Given the description of an element on the screen output the (x, y) to click on. 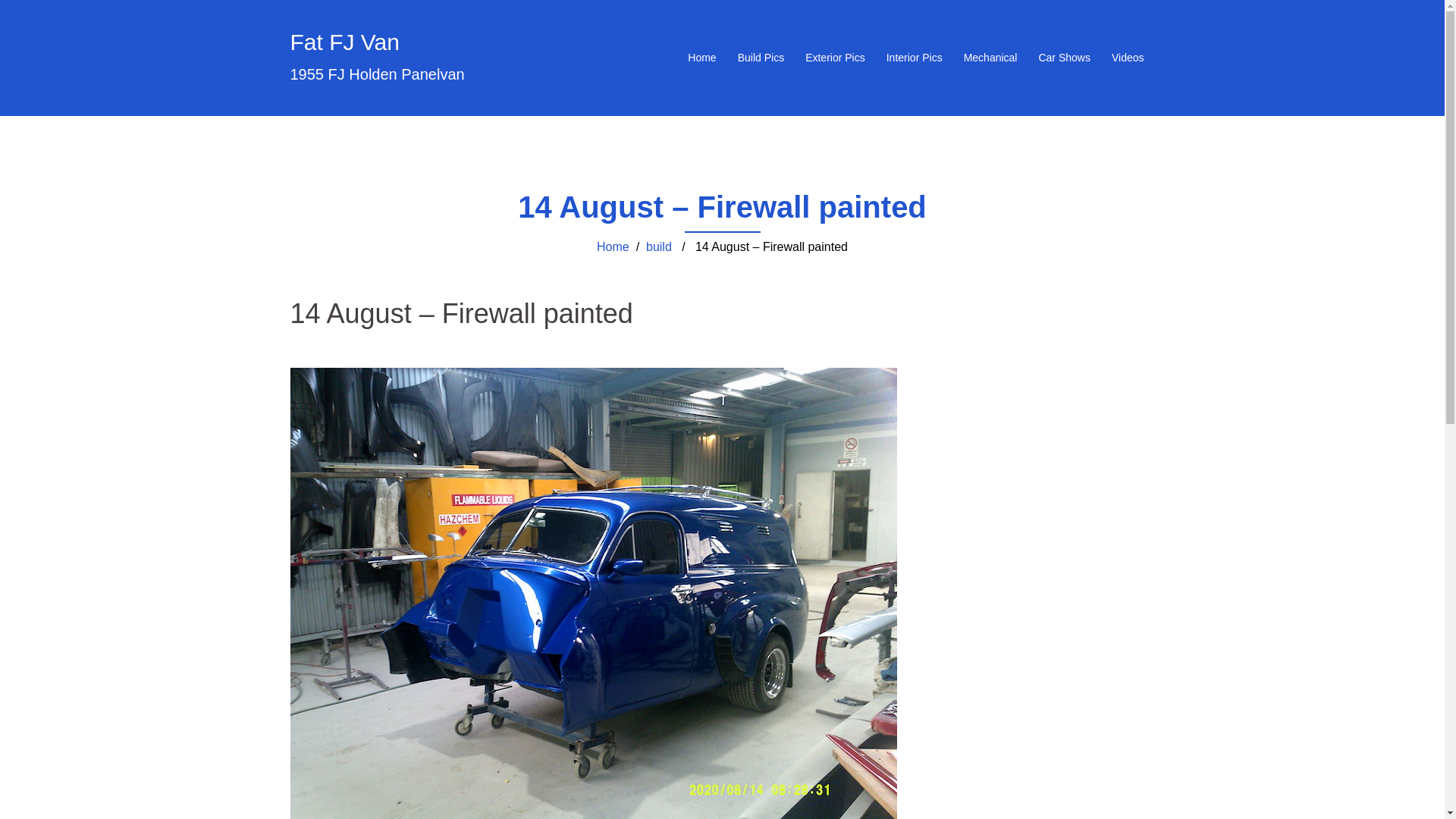
Home Element type: text (612, 246)
Exterior Pics Element type: text (835, 57)
Home Element type: text (701, 57)
Car Shows Element type: text (1063, 57)
Fat FJ Van Element type: text (344, 41)
build Element type: text (658, 246)
Videos Element type: text (1127, 57)
Mechanical Element type: text (990, 57)
Interior Pics Element type: text (914, 57)
Build Pics Element type: text (760, 57)
